Given the description of an element on the screen output the (x, y) to click on. 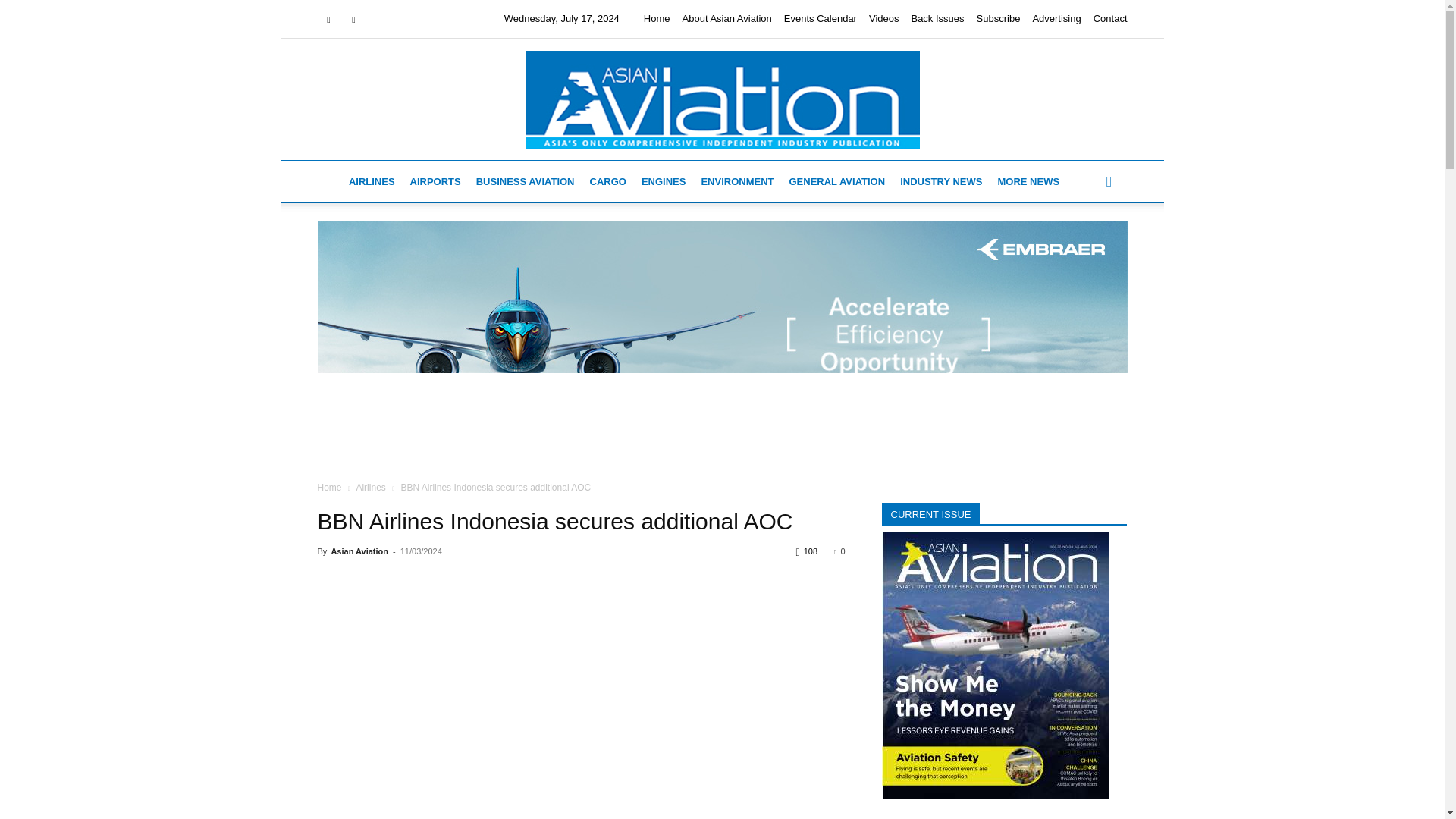
Home (656, 18)
Subscribe (998, 18)
Advertising (1056, 18)
Linkedin (353, 18)
View all posts in Airlines (370, 487)
Contact (1109, 18)
Facebook (328, 18)
ASIAN AVIATION (721, 99)
Videos (884, 18)
Events Calendar (820, 18)
About Asian Aviation (726, 18)
Twitter (379, 18)
Back Issues (937, 18)
